Given the description of an element on the screen output the (x, y) to click on. 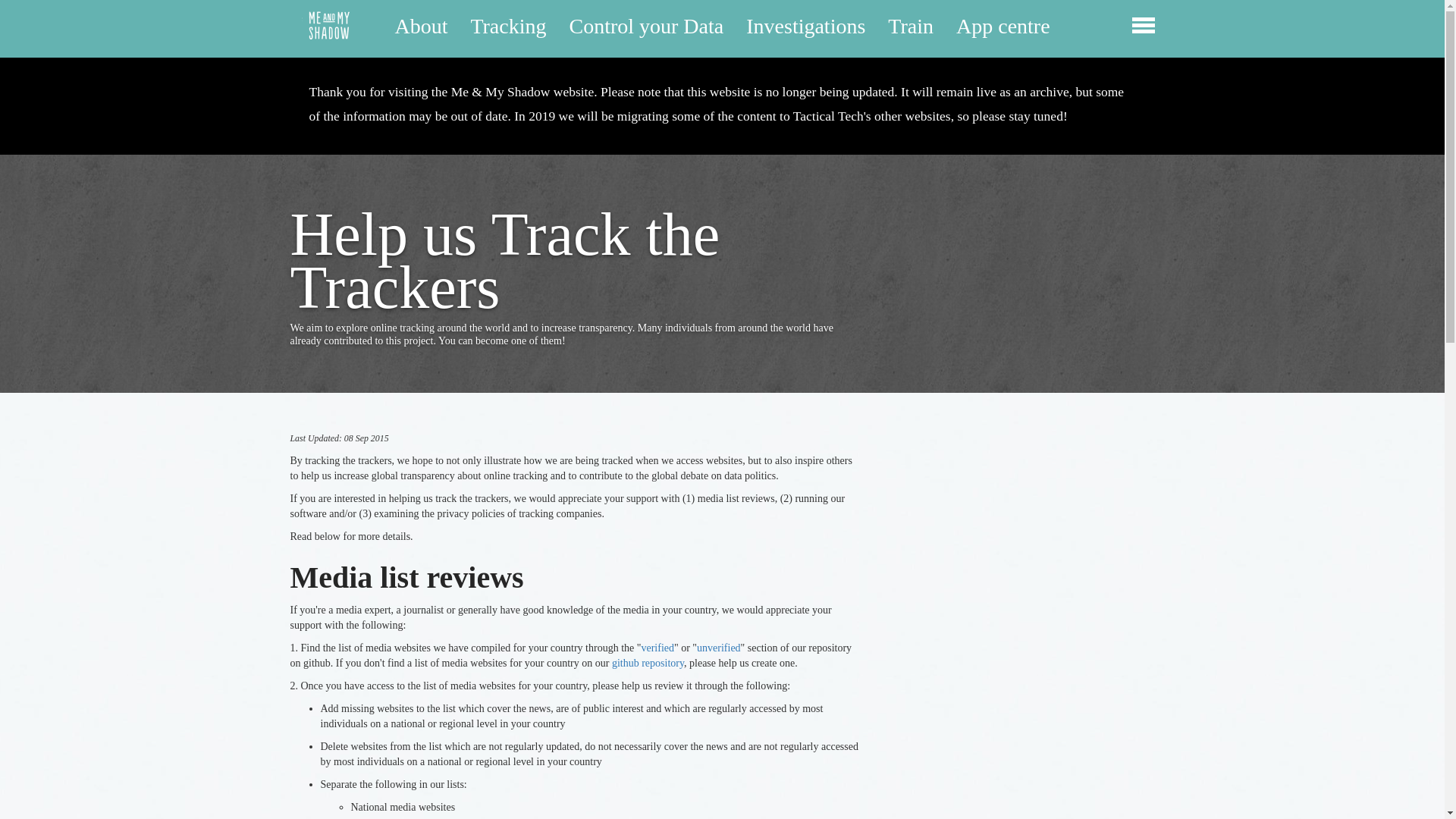
unverified (719, 647)
Train (910, 26)
toggle menu (1142, 26)
Investigations (805, 26)
Tracking (507, 26)
toggle menu (1143, 28)
verified (657, 647)
Control your Data (646, 26)
About (420, 26)
App centre (1002, 26)
